Given the description of an element on the screen output the (x, y) to click on. 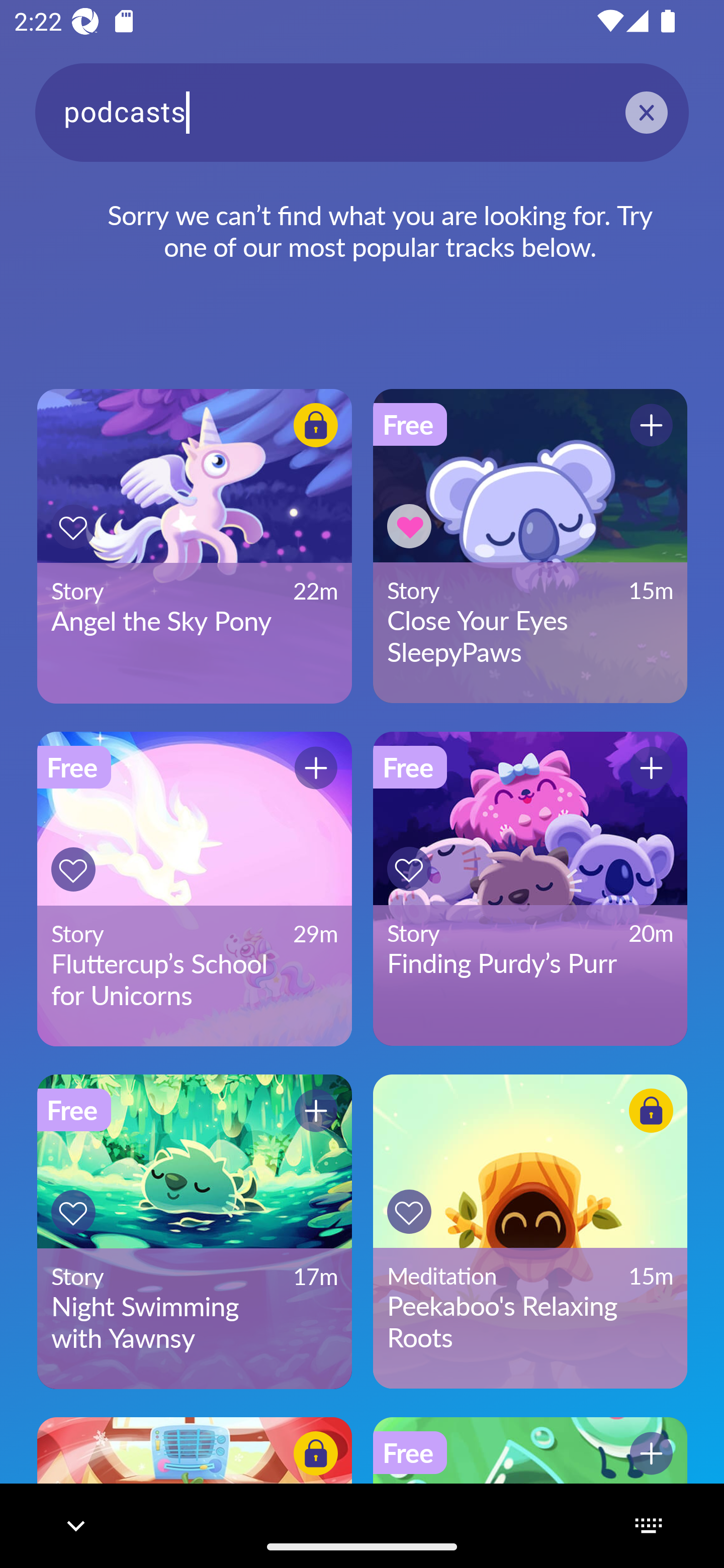
podcasts (361, 111)
Button (315, 424)
Button (650, 424)
Button (409, 525)
Button (73, 526)
Button (315, 767)
Button (650, 767)
Button (409, 868)
Button (73, 869)
Button (315, 1109)
Button (650, 1109)
Button (409, 1211)
Button (73, 1211)
Button (315, 1453)
Button (650, 1453)
